Given the description of an element on the screen output the (x, y) to click on. 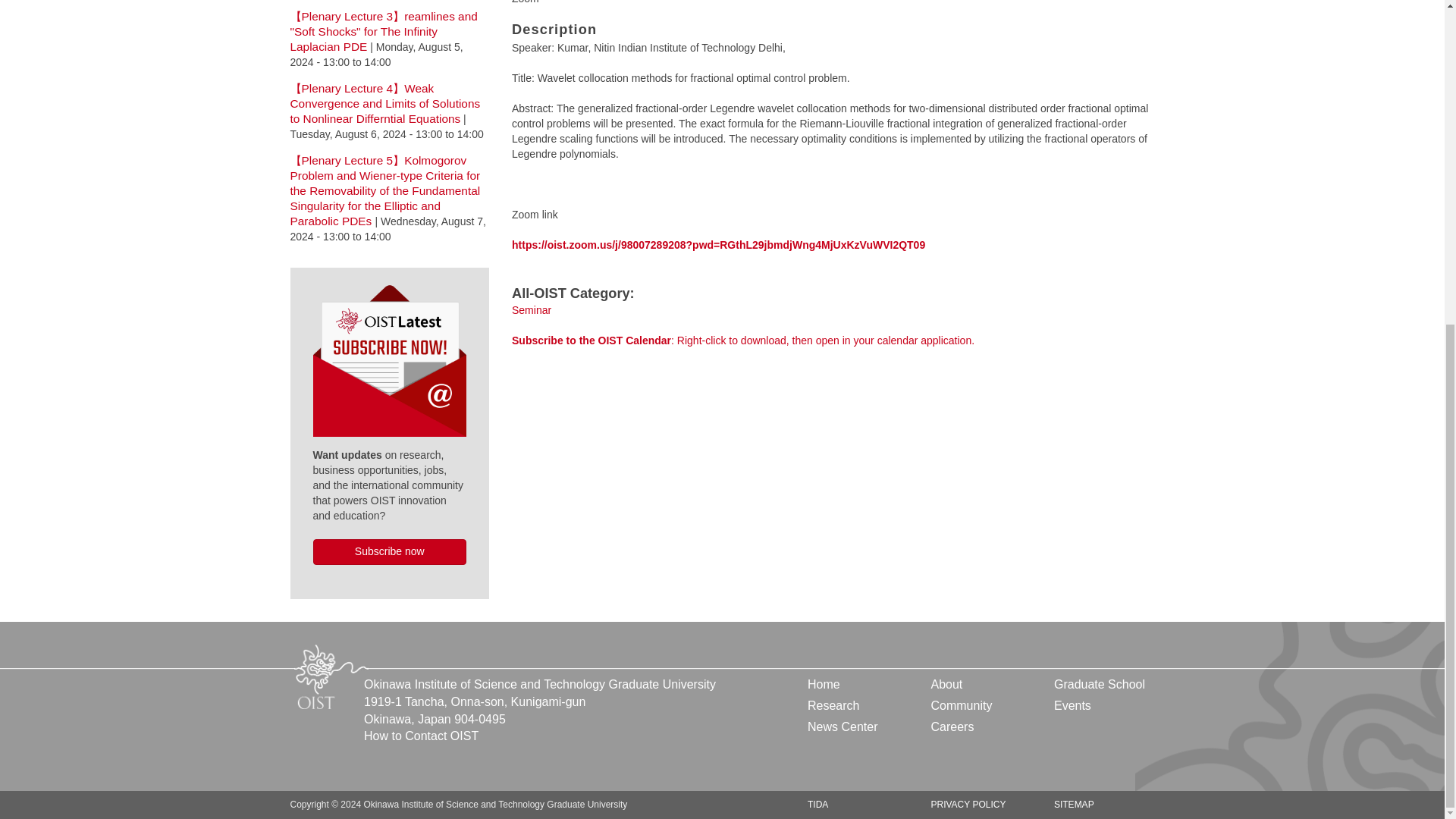
Subscribe now (389, 551)
Seminar (531, 309)
Subscribe now (395, 565)
How to Contact OIST (421, 735)
Subscription to OIST Newsletter (389, 357)
